Given the description of an element on the screen output the (x, y) to click on. 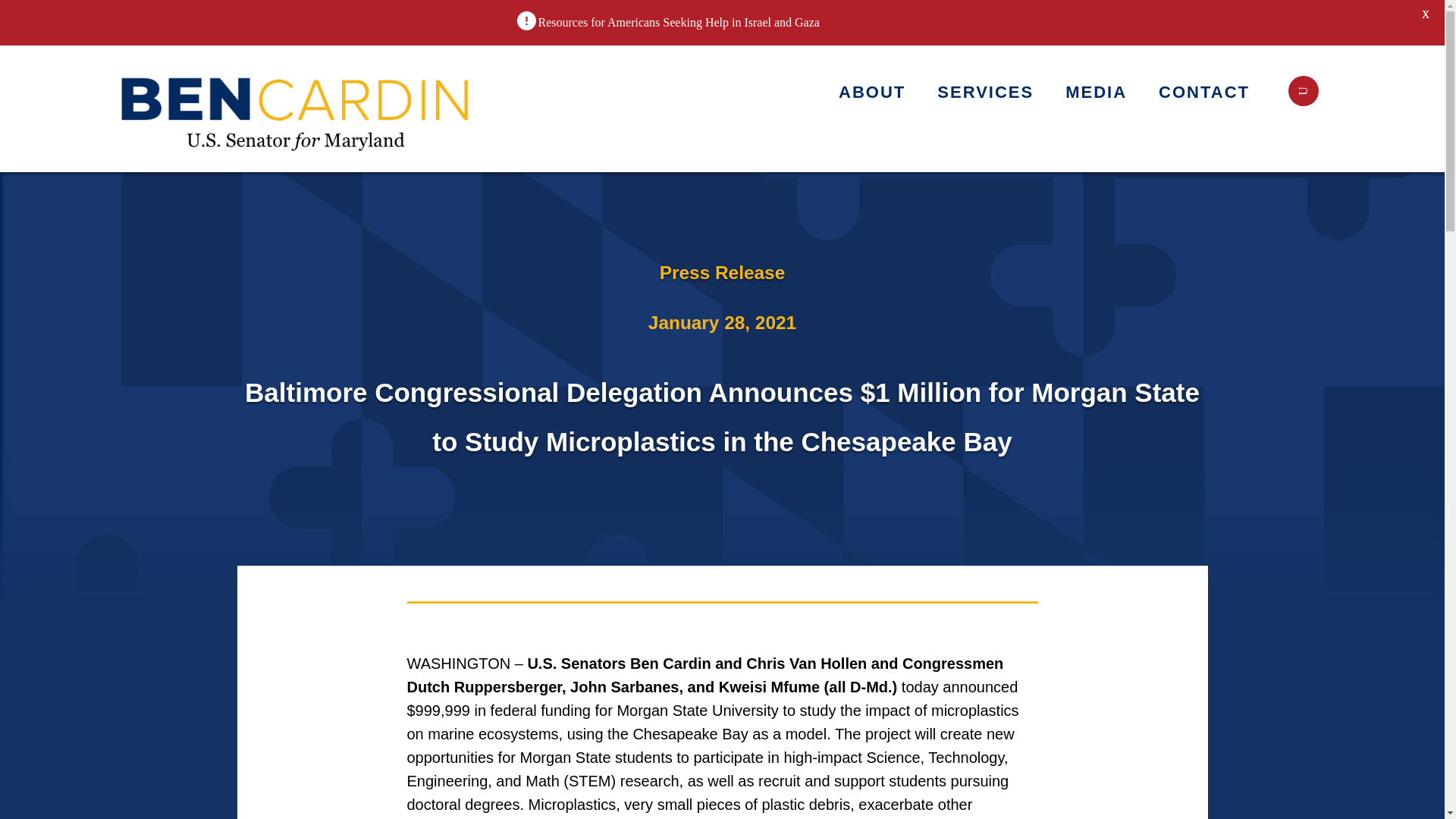
Large-Inner (296, 108)
